Given the description of an element on the screen output the (x, y) to click on. 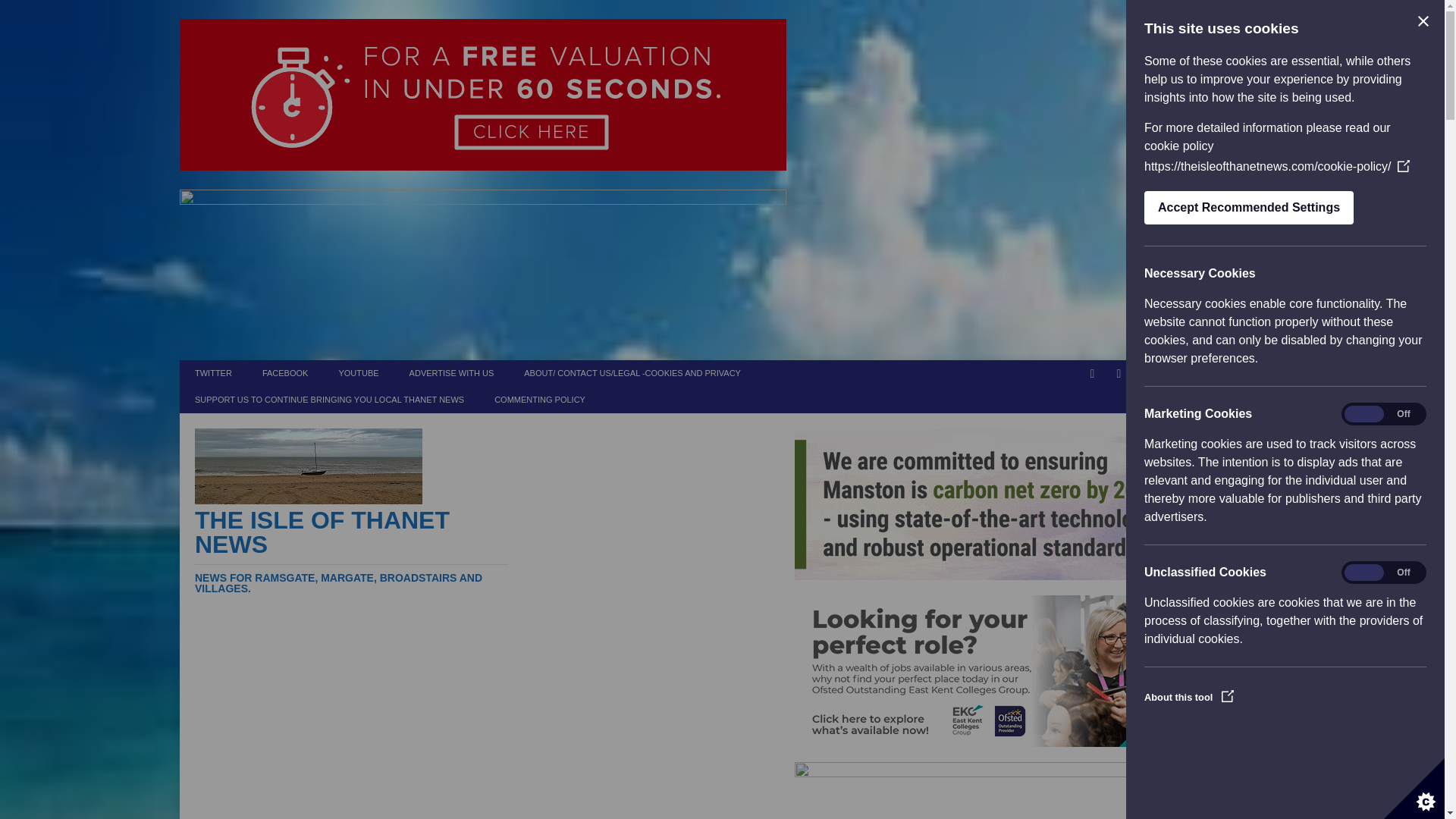
TWITTER (213, 373)
FACEBOOK (285, 373)
YOUTUBE (358, 373)
ADVERTISE WITH US (451, 373)
The Isle Of Thanet News (351, 550)
SUPPORT US TO CONTINUE BRINGING YOU LOCAL THANET NEWS (329, 399)
COMMENTING POLICY (539, 399)
